Given the description of an element on the screen output the (x, y) to click on. 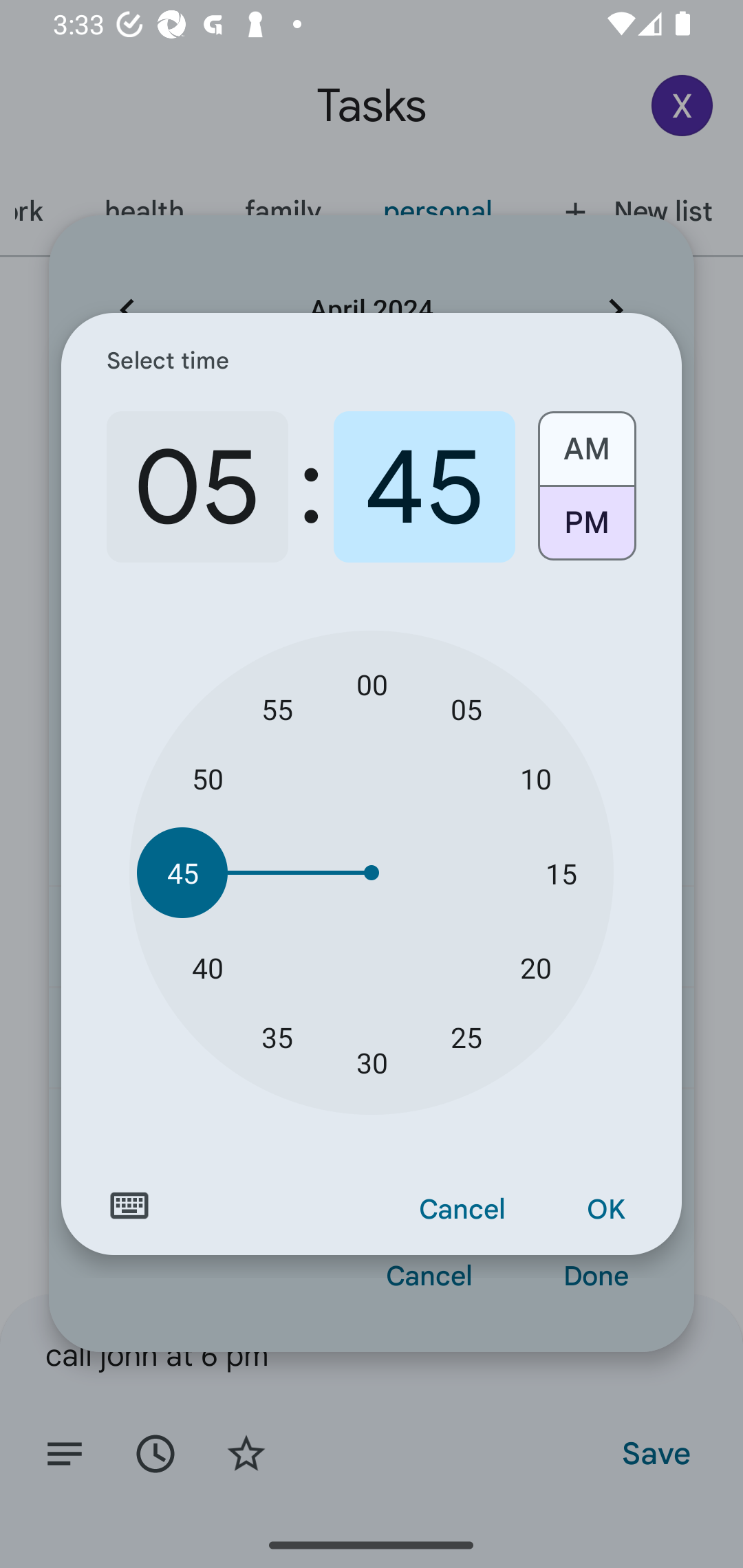
AM (586, 441)
05 5 o'clock (197, 486)
45 45 minutes (424, 486)
PM (586, 529)
00 00 minutes (371, 683)
55 55 minutes (276, 708)
05 05 minutes (466, 708)
50 50 minutes (207, 778)
10 10 minutes (535, 778)
45 45 minutes (182, 872)
15 15 minutes (561, 872)
40 40 minutes (207, 966)
20 20 minutes (535, 966)
35 35 minutes (276, 1035)
25 25 minutes (466, 1035)
30 30 minutes (371, 1062)
Switch to text input mode for the time input. (128, 1205)
Cancel (462, 1209)
OK (605, 1209)
